Given the description of an element on the screen output the (x, y) to click on. 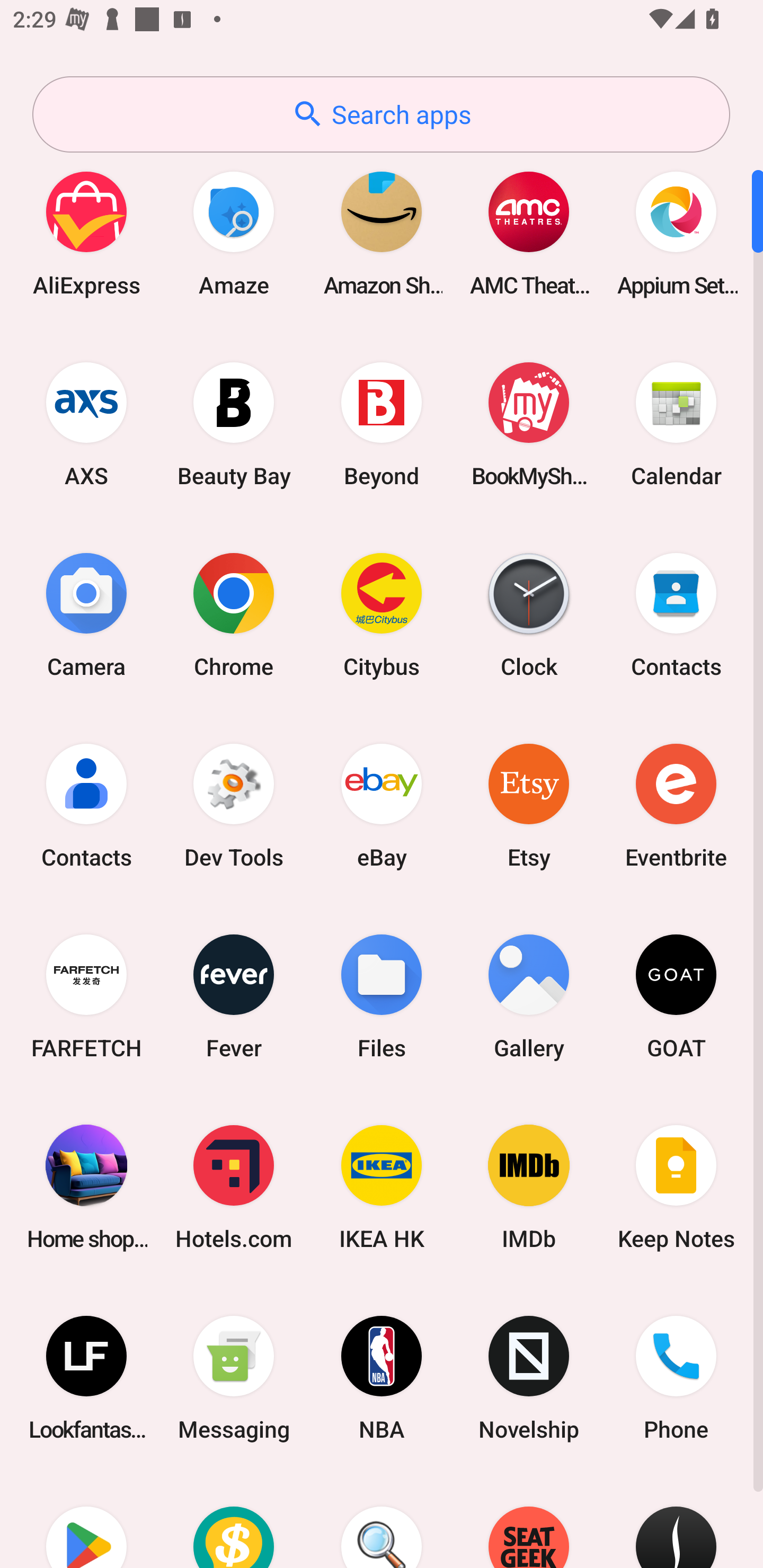
  Search apps (381, 114)
AliExpress (86, 233)
Amaze (233, 233)
Amazon Shopping (381, 233)
AMC Theatres (528, 233)
Appium Settings (676, 233)
AXS (86, 424)
Beauty Bay (233, 424)
Beyond (381, 424)
BookMyShow (528, 424)
Calendar (676, 424)
Camera (86, 614)
Chrome (233, 614)
Citybus (381, 614)
Clock (528, 614)
Contacts (676, 614)
Contacts (86, 805)
Dev Tools (233, 805)
eBay (381, 805)
Etsy (528, 805)
Eventbrite (676, 805)
FARFETCH (86, 996)
Fever (233, 996)
Files (381, 996)
Gallery (528, 996)
GOAT (676, 996)
Home shopping (86, 1186)
Hotels.com (233, 1186)
IKEA HK (381, 1186)
IMDb (528, 1186)
Keep Notes (676, 1186)
Lookfantastic (86, 1377)
Messaging (233, 1377)
NBA (381, 1377)
Novelship (528, 1377)
Phone (676, 1377)
Play Store (86, 1520)
Price (233, 1520)
Search (381, 1520)
SeatGeek (528, 1520)
Sephora (676, 1520)
